Given the description of an element on the screen output the (x, y) to click on. 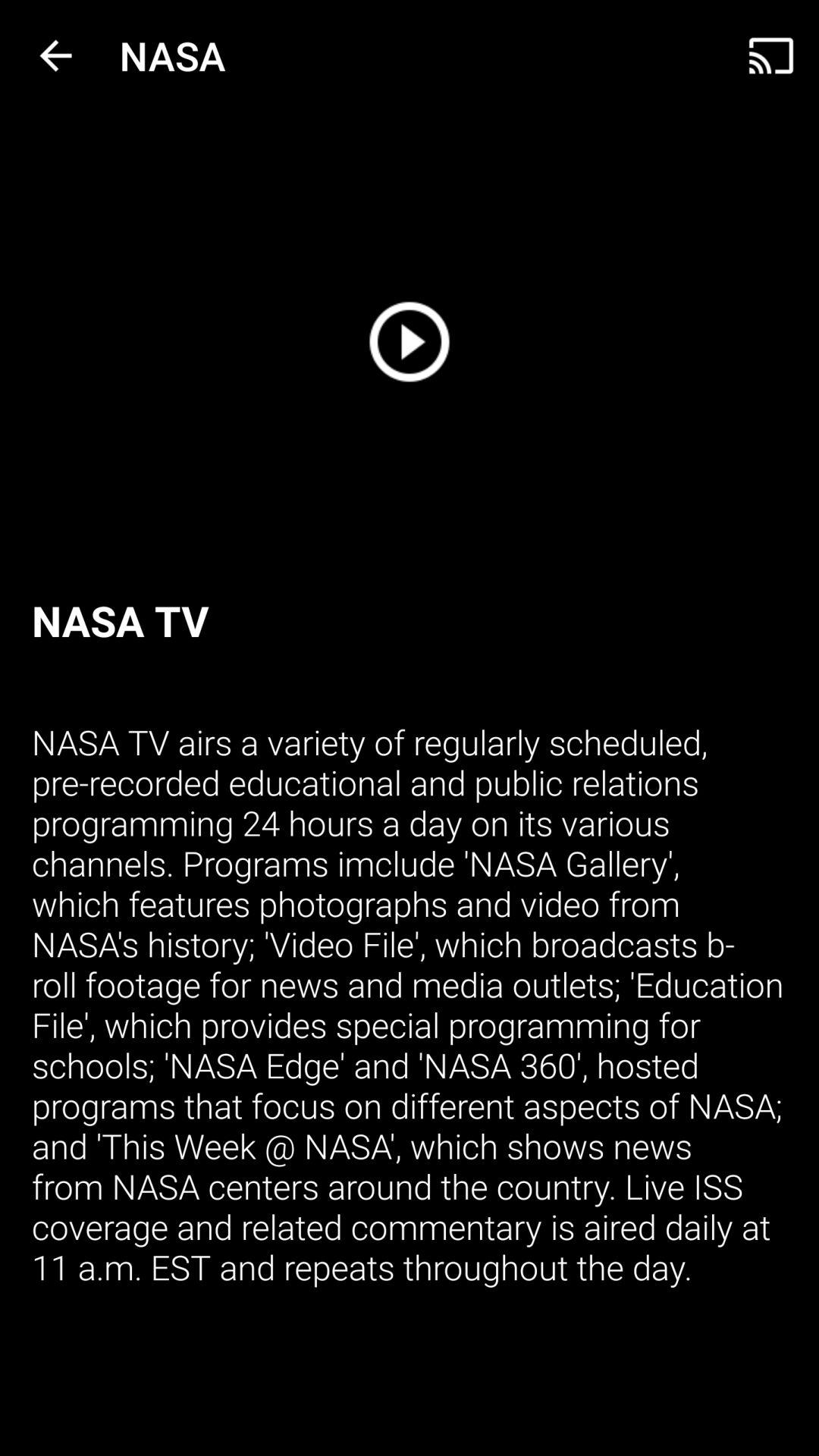
play video (409, 341)
